Given the description of an element on the screen output the (x, y) to click on. 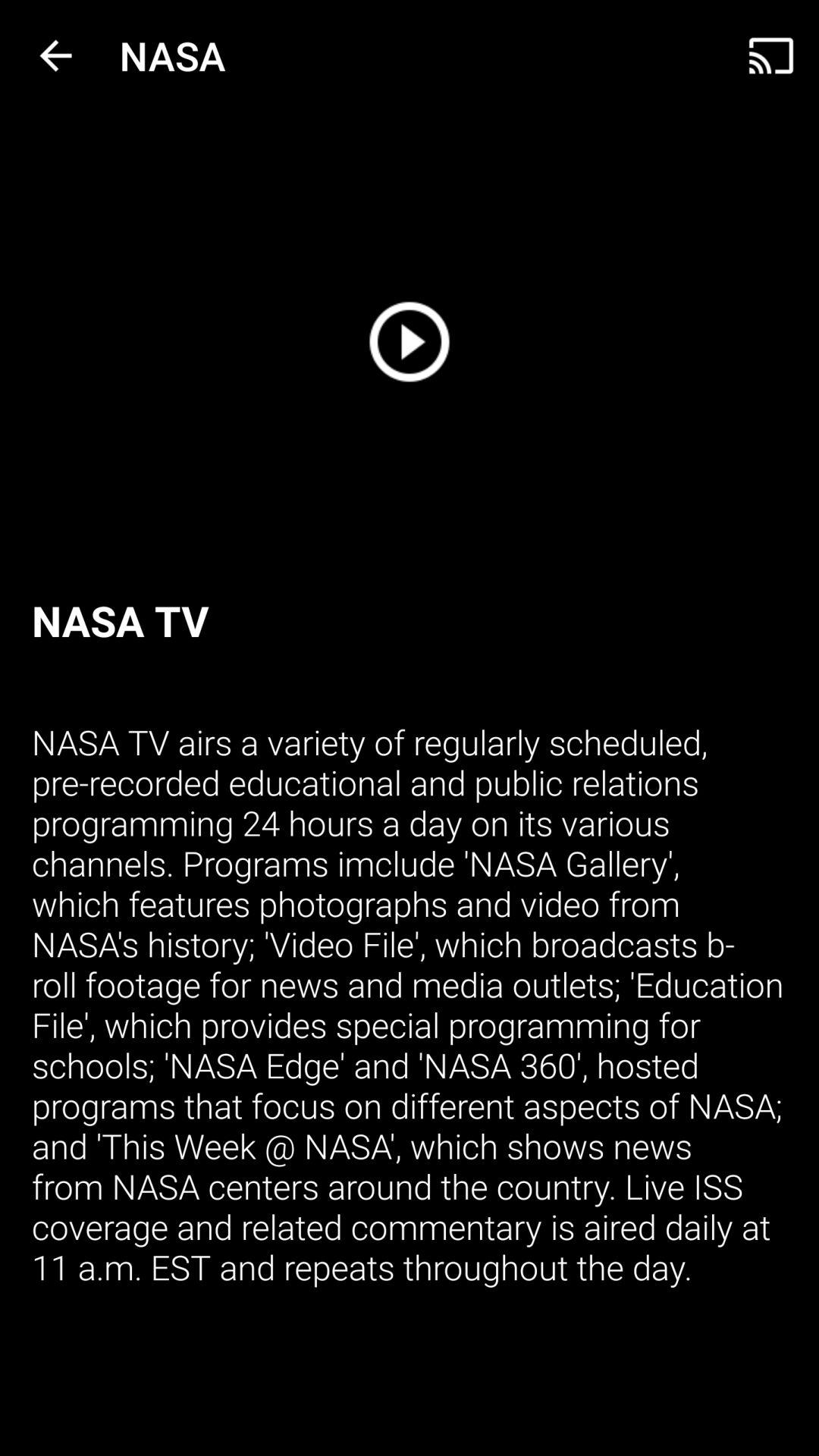
play video (409, 341)
